Given the description of an element on the screen output the (x, y) to click on. 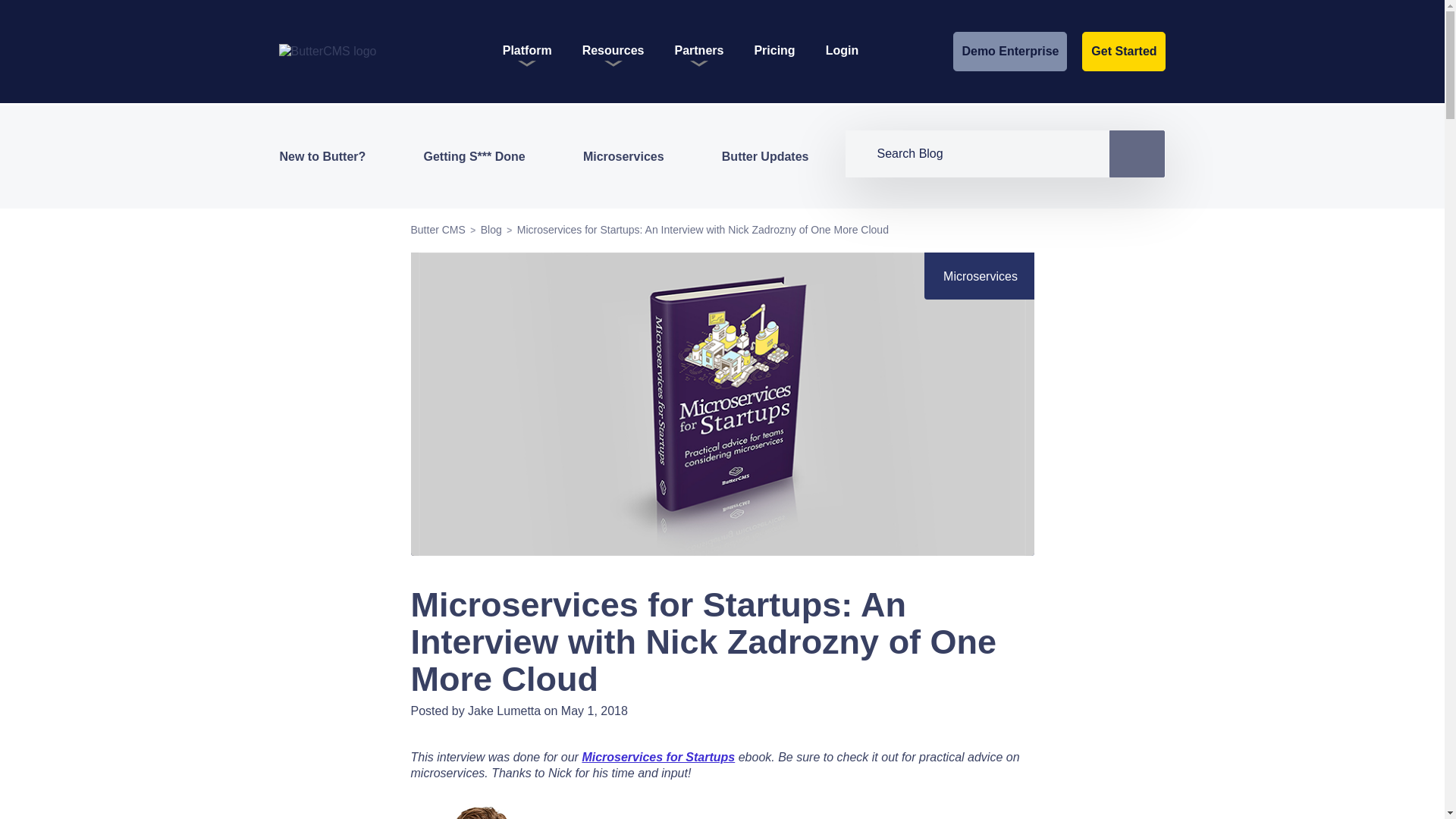
Resources (613, 54)
Platform (526, 54)
